Given the description of an element on the screen output the (x, y) to click on. 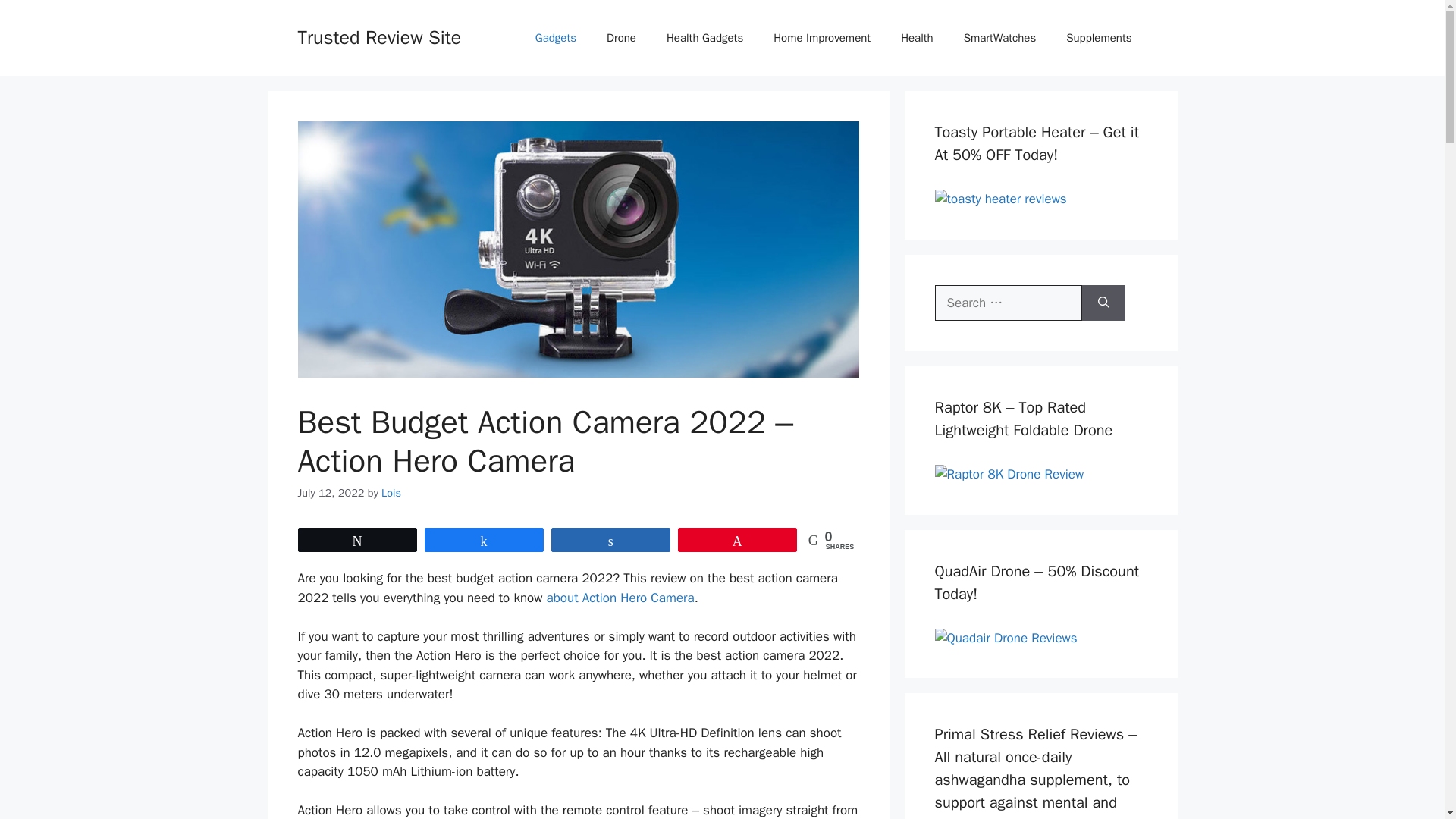
Lois (391, 492)
Shadow X Drone - All You Need To know (1008, 474)
Supplements (1099, 37)
Shadow X Drone - All You Need To know (999, 199)
Gadgets (555, 37)
SmartWatches (1000, 37)
about Action Hero Camera (620, 597)
Trusted Review Site (379, 37)
Search for: (1007, 303)
View all posts by Lois (391, 492)
